Given the description of an element on the screen output the (x, y) to click on. 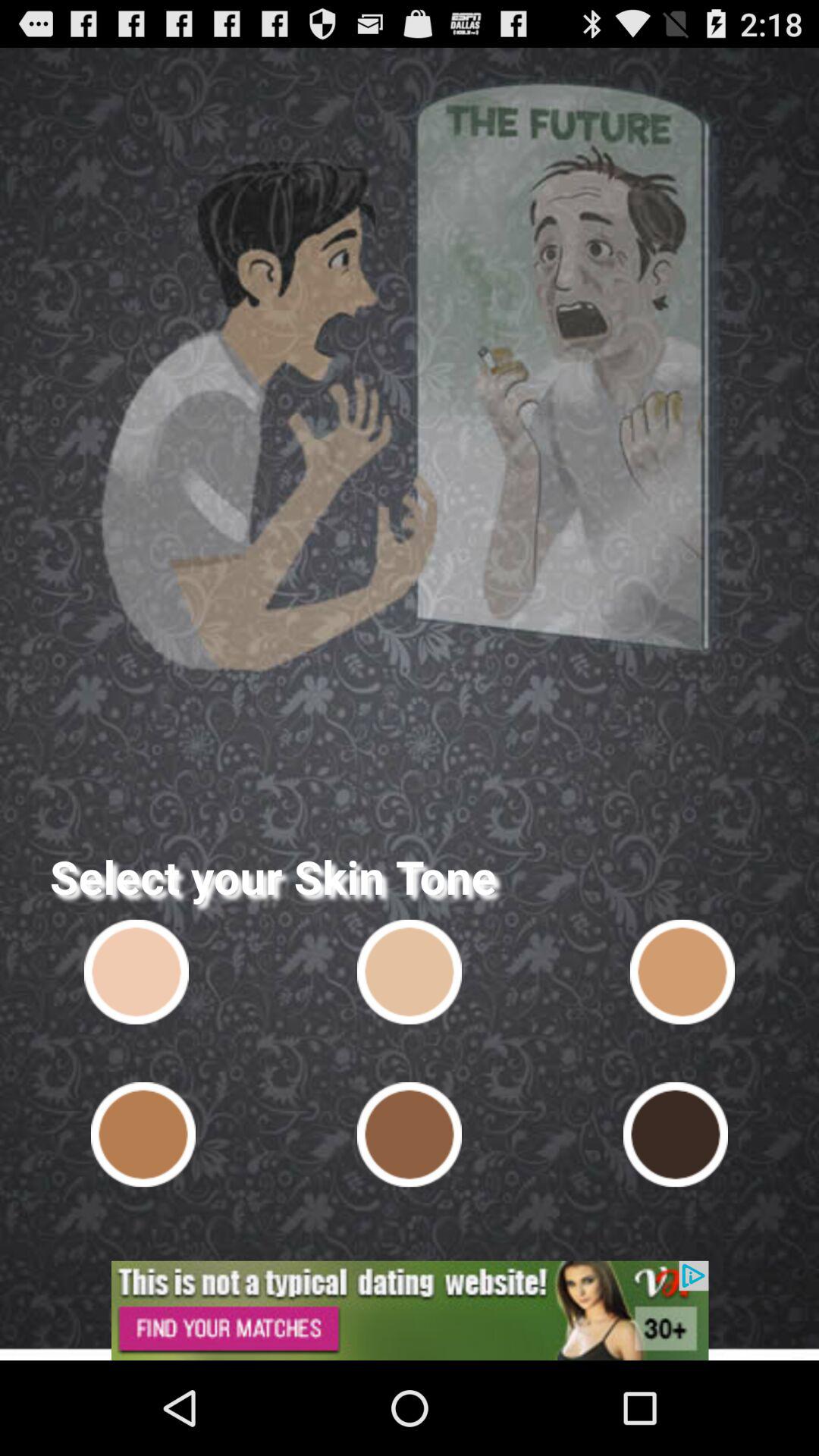
take you in future and show you how your face look like in old age (136, 971)
